Given the description of an element on the screen output the (x, y) to click on. 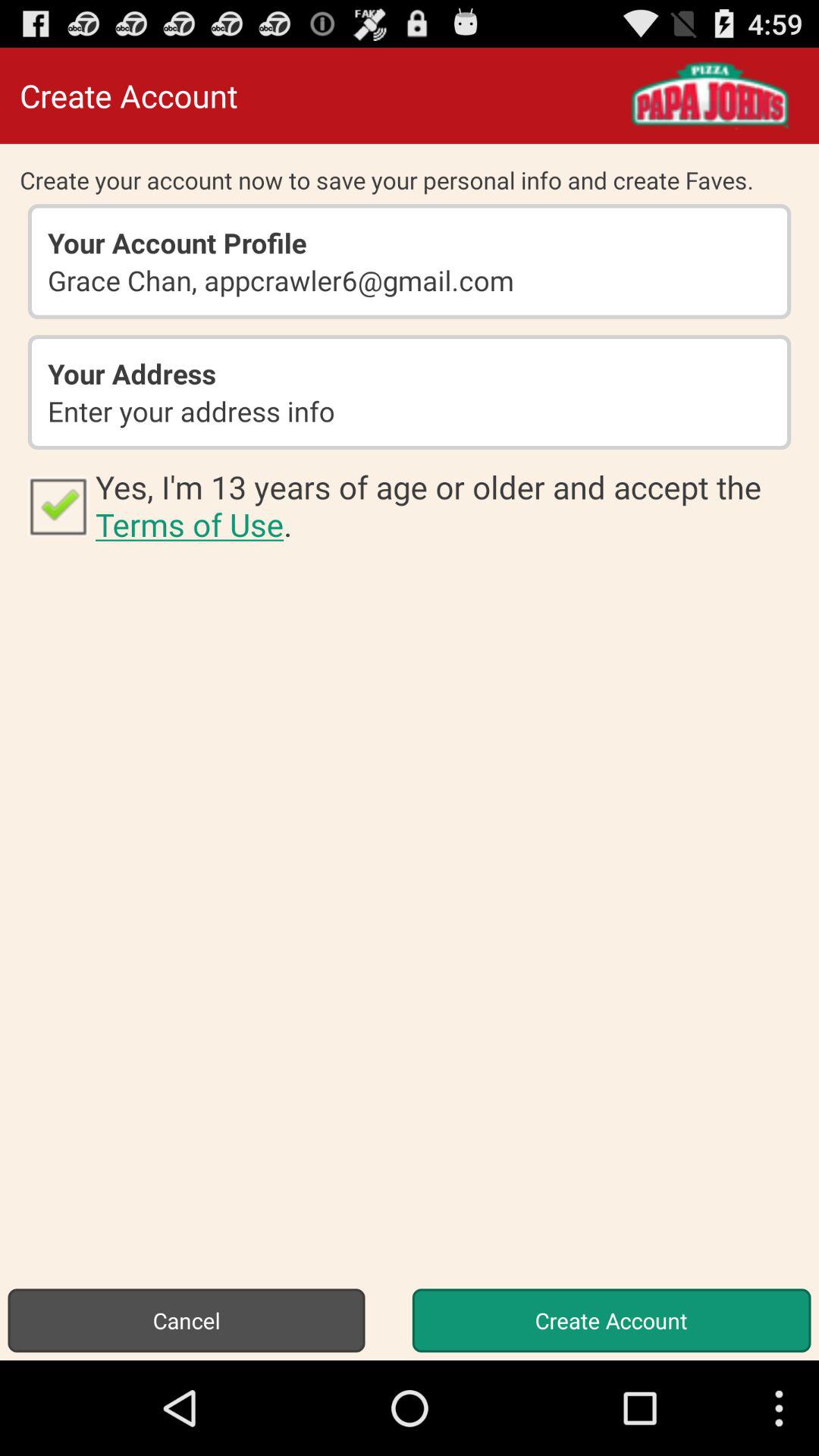
launch the item below enter your address icon (57, 505)
